Given the description of an element on the screen output the (x, y) to click on. 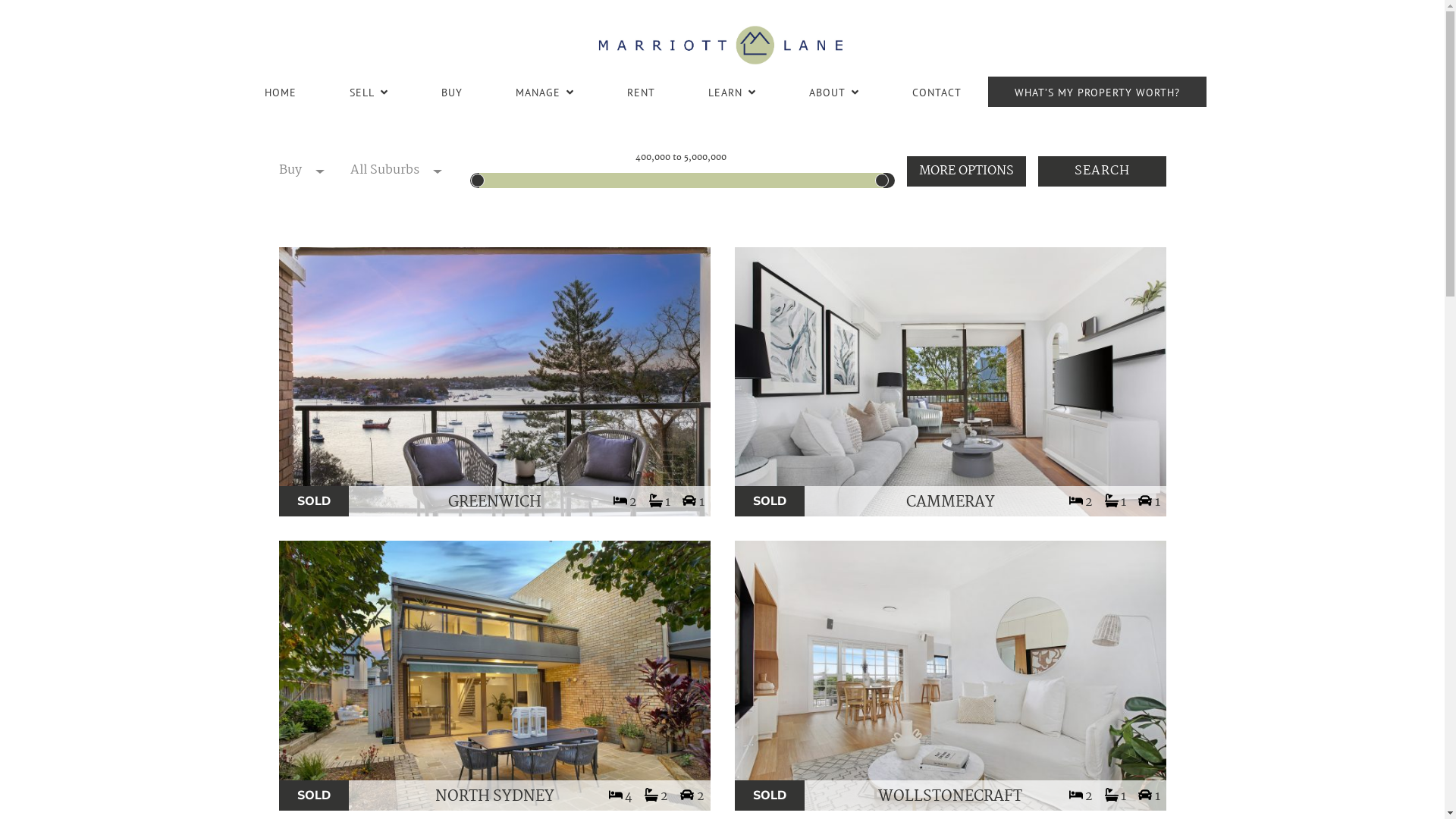
ABOUT Element type: text (833, 91)
SELL Element type: text (368, 91)
VIEW
6/195 ERNEST STREET,
CAMMERAY NSW 2062 Element type: text (949, 382)
VIEW
28/11-17 SELWYN STREET,
WOLLSTONECRAFT NSW 2065 Element type: text (949, 675)
CONTACT Element type: text (936, 91)
VIEW
7/2 LANDENBURG PLACE,
GREENWICH NSW 2065 Element type: text (494, 382)
Search Element type: text (1101, 171)
HOME Element type: text (280, 91)
BUY Element type: text (451, 91)
MORE OPTIONS Element type: text (966, 171)
RENT Element type: text (640, 91)
LEARN Element type: text (731, 91)
VIEW
4E WHALING ROAD,
NORTH SYDNEY NSW 2060 Element type: text (494, 675)
MANAGE Element type: text (544, 91)
